Given the description of an element on the screen output the (x, y) to click on. 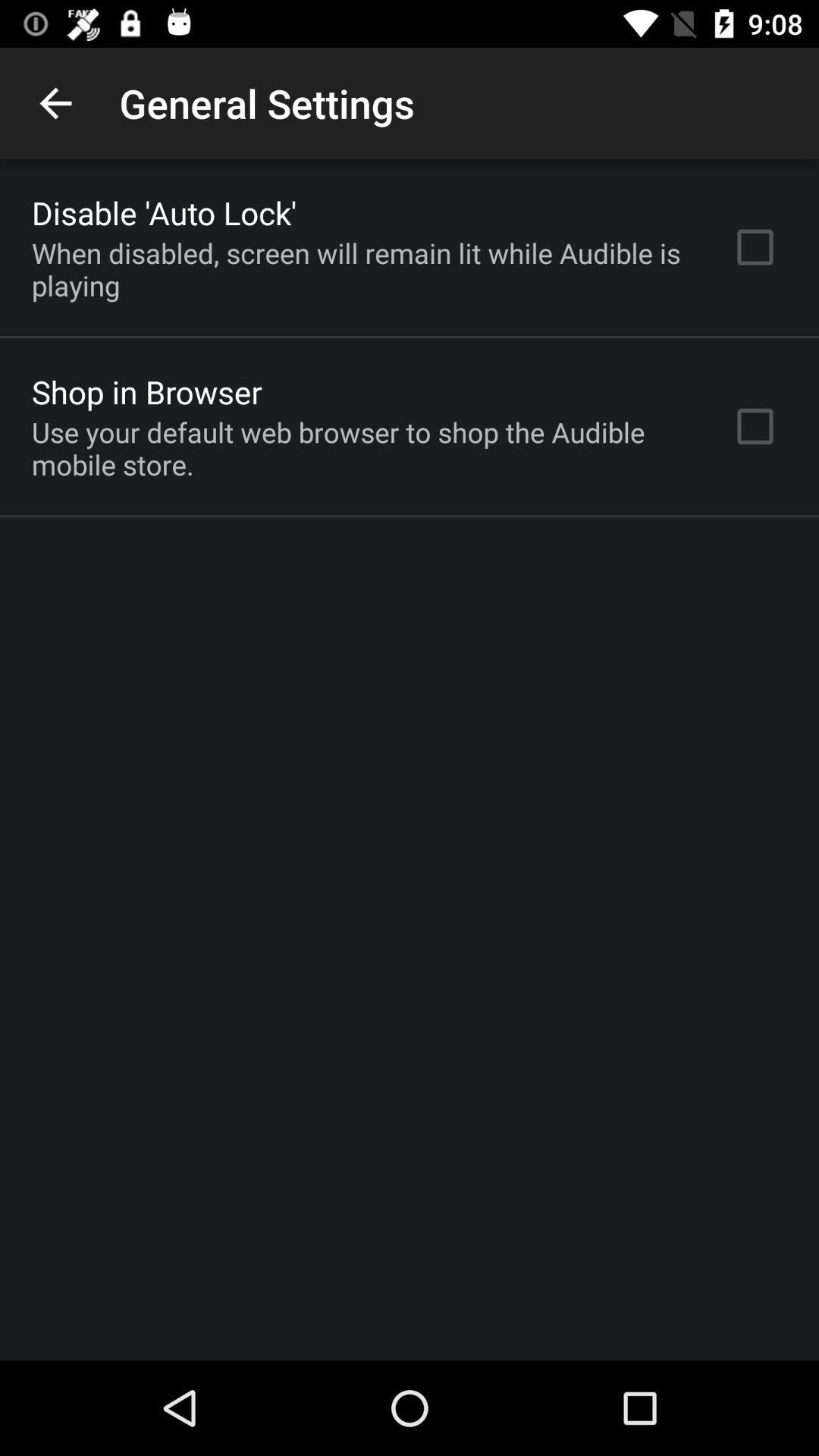
swipe to the when disabled screen icon (361, 269)
